Given the description of an element on the screen output the (x, y) to click on. 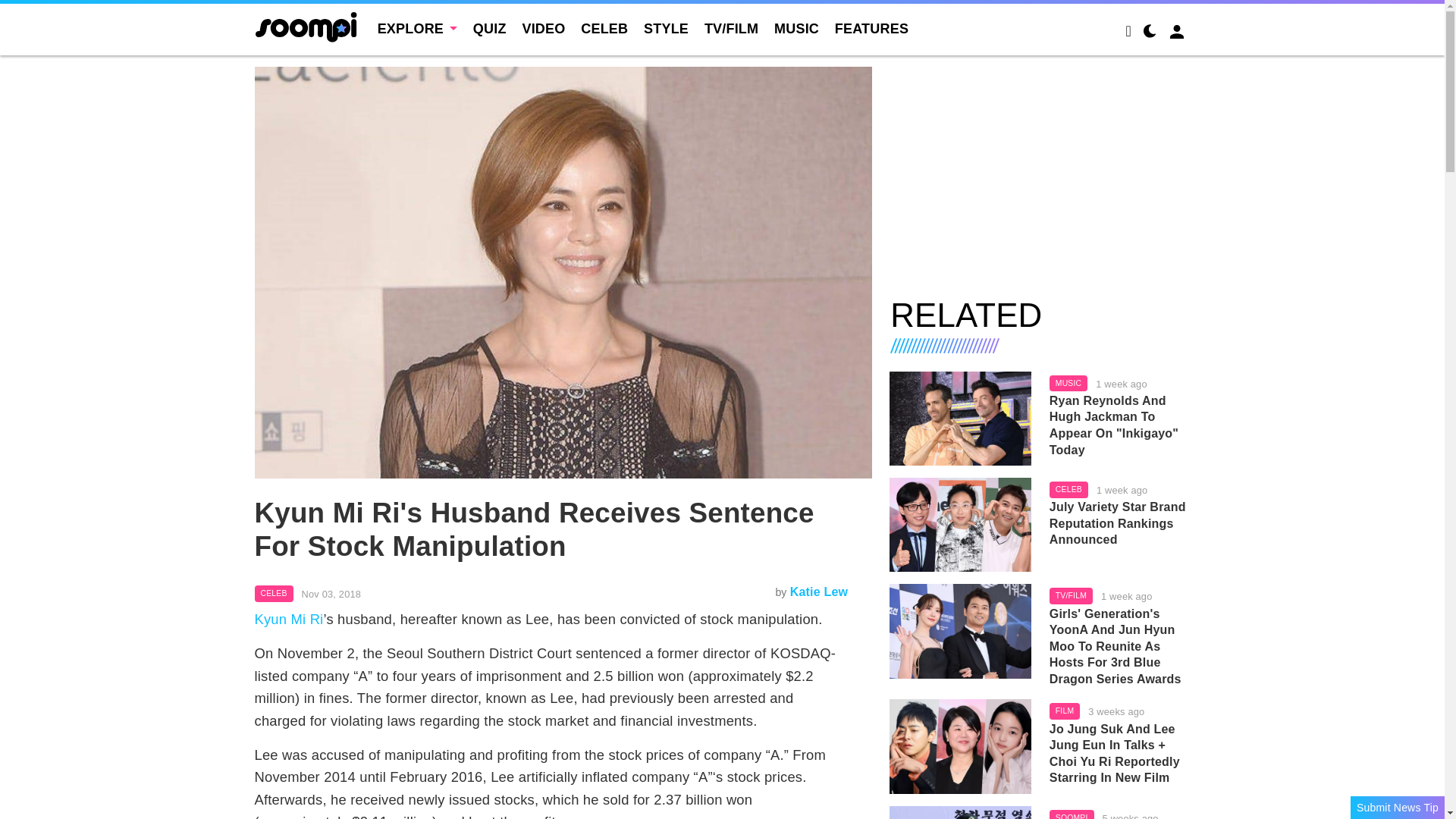
FEATURES (871, 28)
July Variety Star Brand Reputation Rankings Announced (959, 524)
QUIZ (489, 28)
MUSIC (796, 28)
Celeb (274, 593)
Ryan Reynolds And Hugh Jackman To Appear On 'Inkigayo' Today (959, 418)
CELEB (274, 593)
VIDEO (542, 28)
CELEB (603, 28)
EXPLORE (417, 28)
July Variety Star Brand Reputation Rankings Announced (1120, 522)
Articles by Katie Lew (819, 591)
Ryan Reynolds And Hugh Jackman To Appear On 'Inkigayo' Today (1120, 425)
STYLE (665, 28)
Night Mode Toggle (1149, 33)
